Given the description of an element on the screen output the (x, y) to click on. 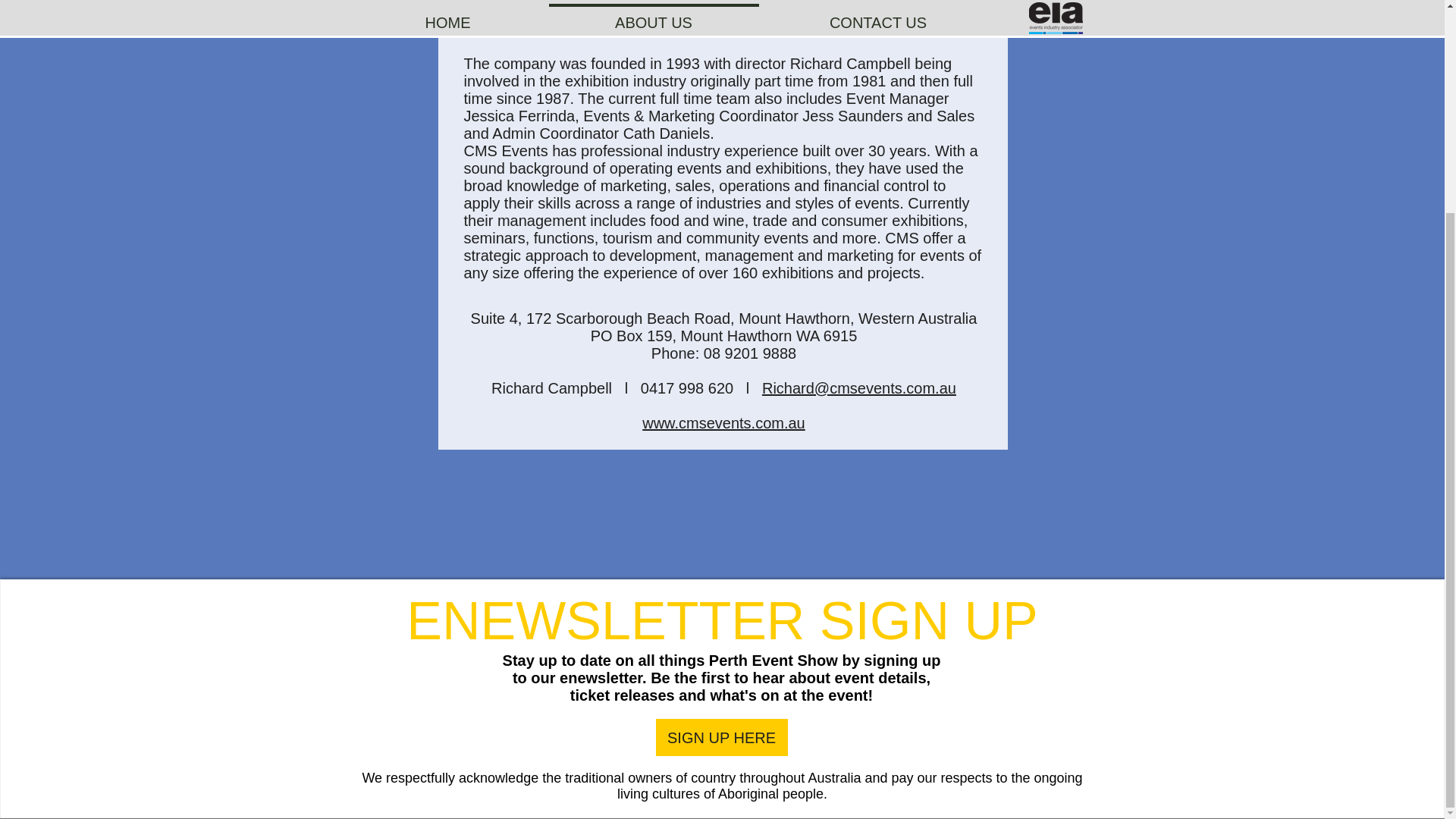
www.cmsevents.com.au (723, 422)
SIGN UP HERE (721, 737)
